Given the description of an element on the screen output the (x, y) to click on. 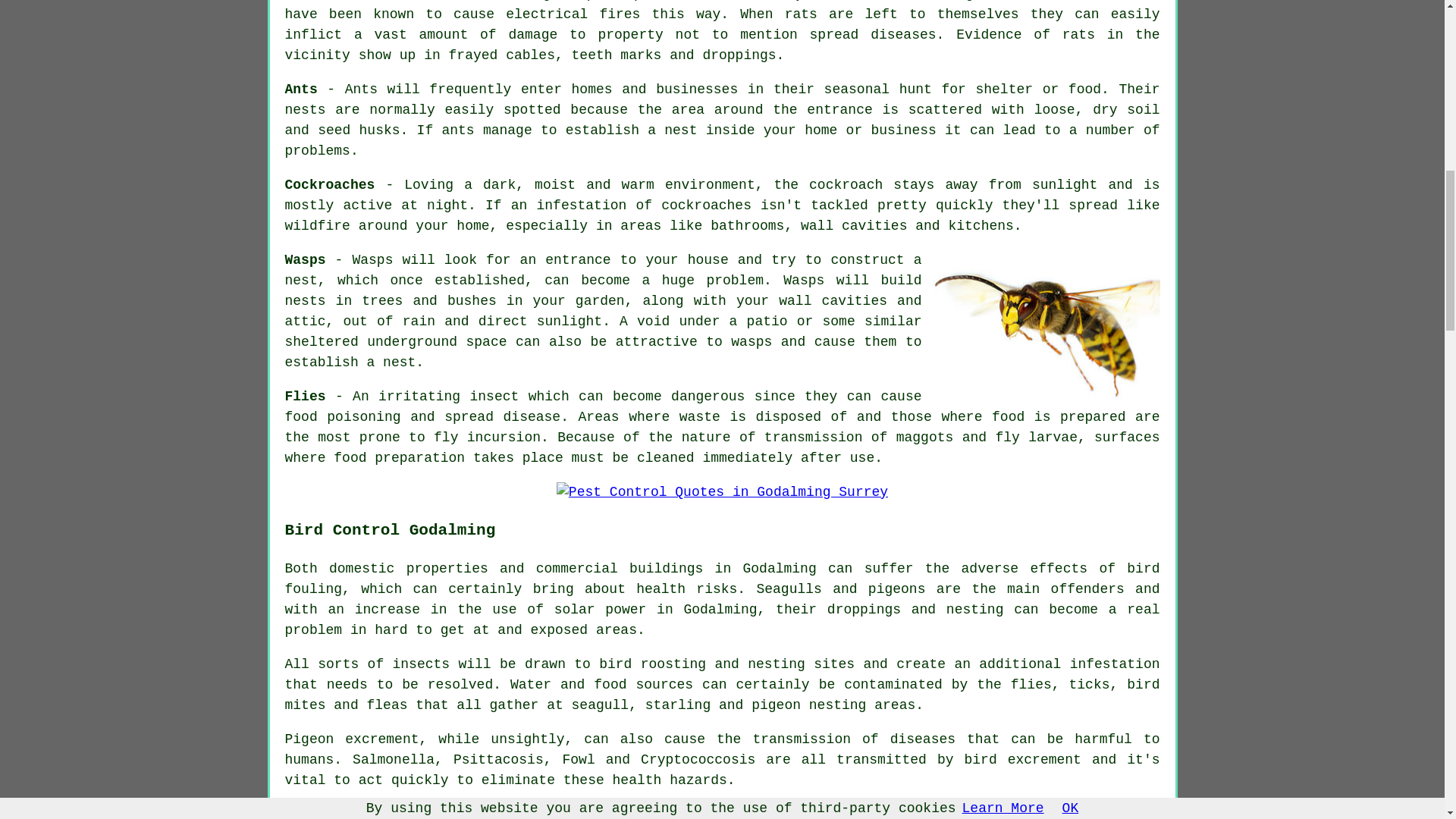
Rats (727, 0)
Wasp Control Godalming (1046, 324)
rats (800, 14)
Pest Control Quotes in Godalming Surrey (722, 492)
